Given the description of an element on the screen output the (x, y) to click on. 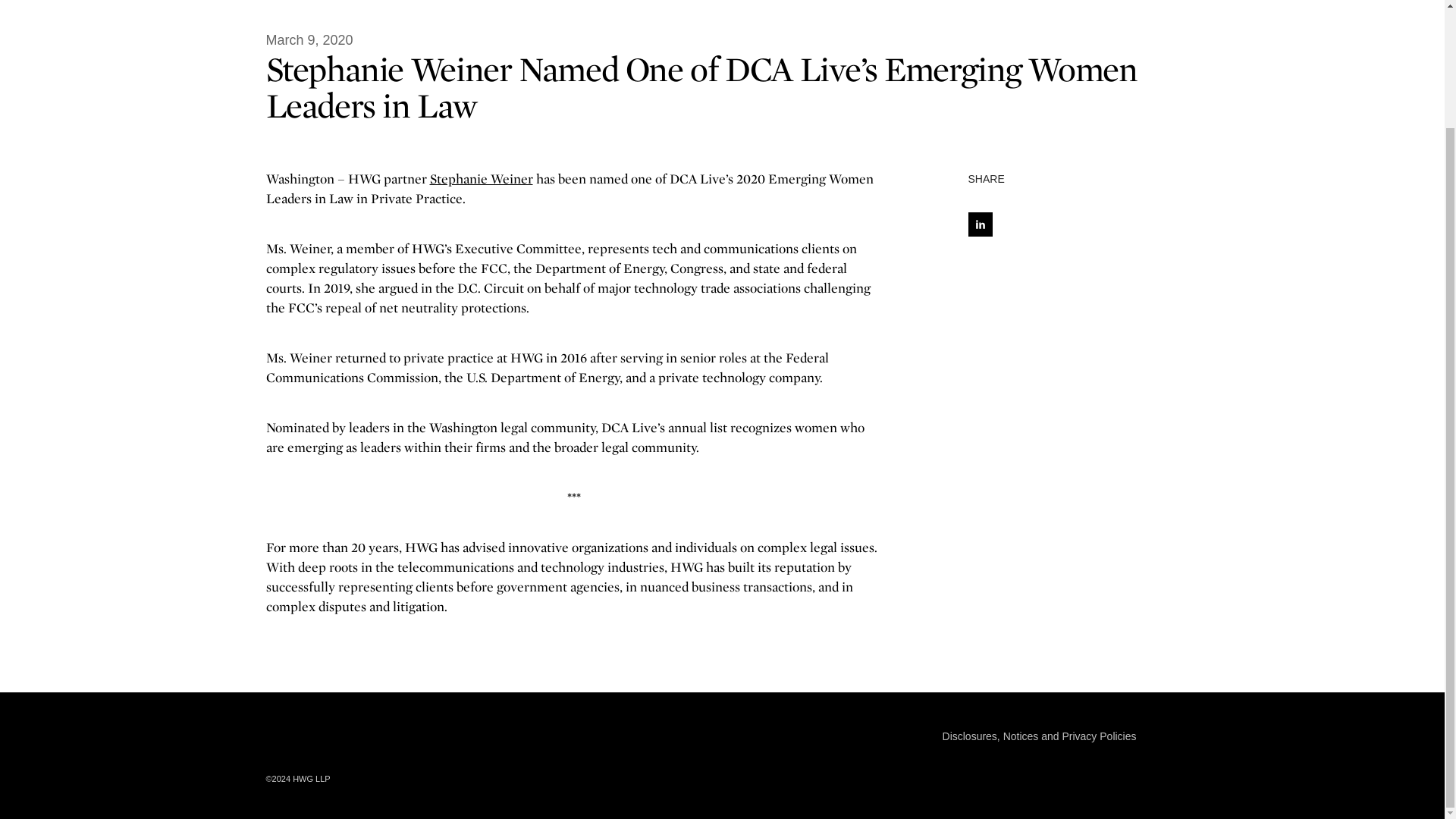
LinkedIn (1168, 735)
Disclosures, Notices and Privacy Policies (1039, 736)
Stephanie Weiner (480, 178)
